Given the description of an element on the screen output the (x, y) to click on. 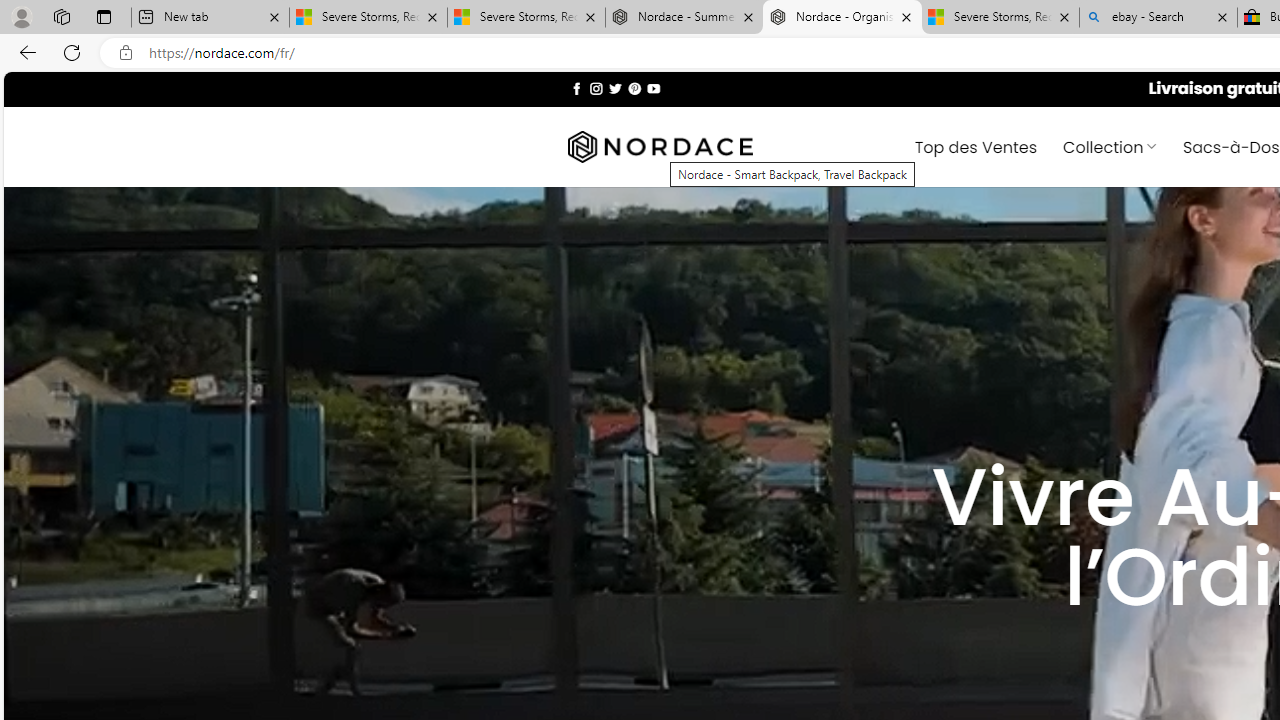
 Top des Ventes (975, 146)
Nous suivre sur Twitter (615, 88)
Nous suivre sur Pinterest (634, 88)
